Given the description of an element on the screen output the (x, y) to click on. 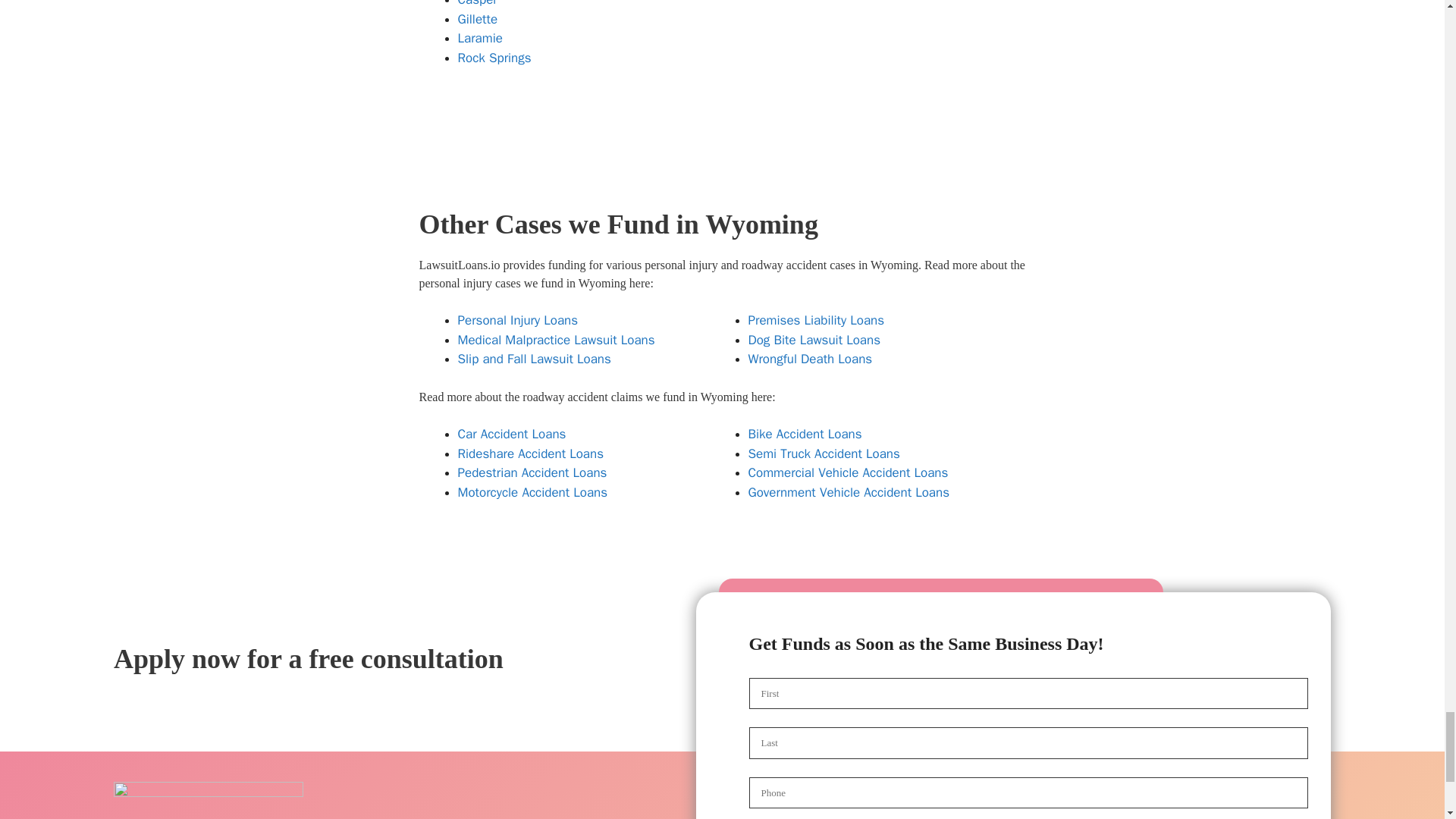
Rock Springs (494, 57)
Personal Injury Loans (518, 320)
Casper (477, 3)
Laramie (480, 37)
Gillette (477, 19)
